Given the description of an element on the screen output the (x, y) to click on. 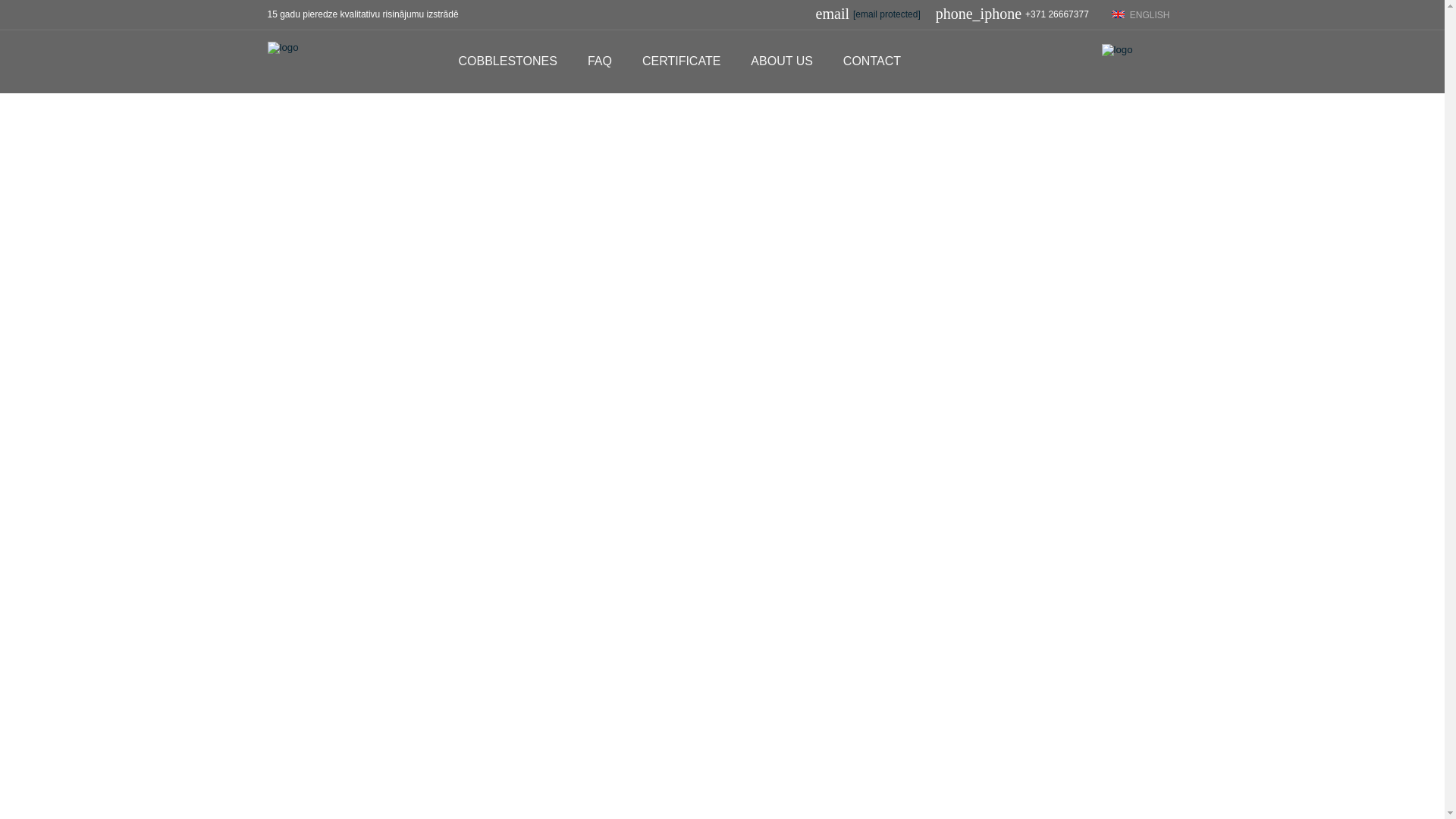
COBBLESTONES (507, 60)
CERTIFICATE (681, 60)
CONTACT (872, 60)
FAQ (599, 60)
ABOUT US (781, 60)
